Given the description of an element on the screen output the (x, y) to click on. 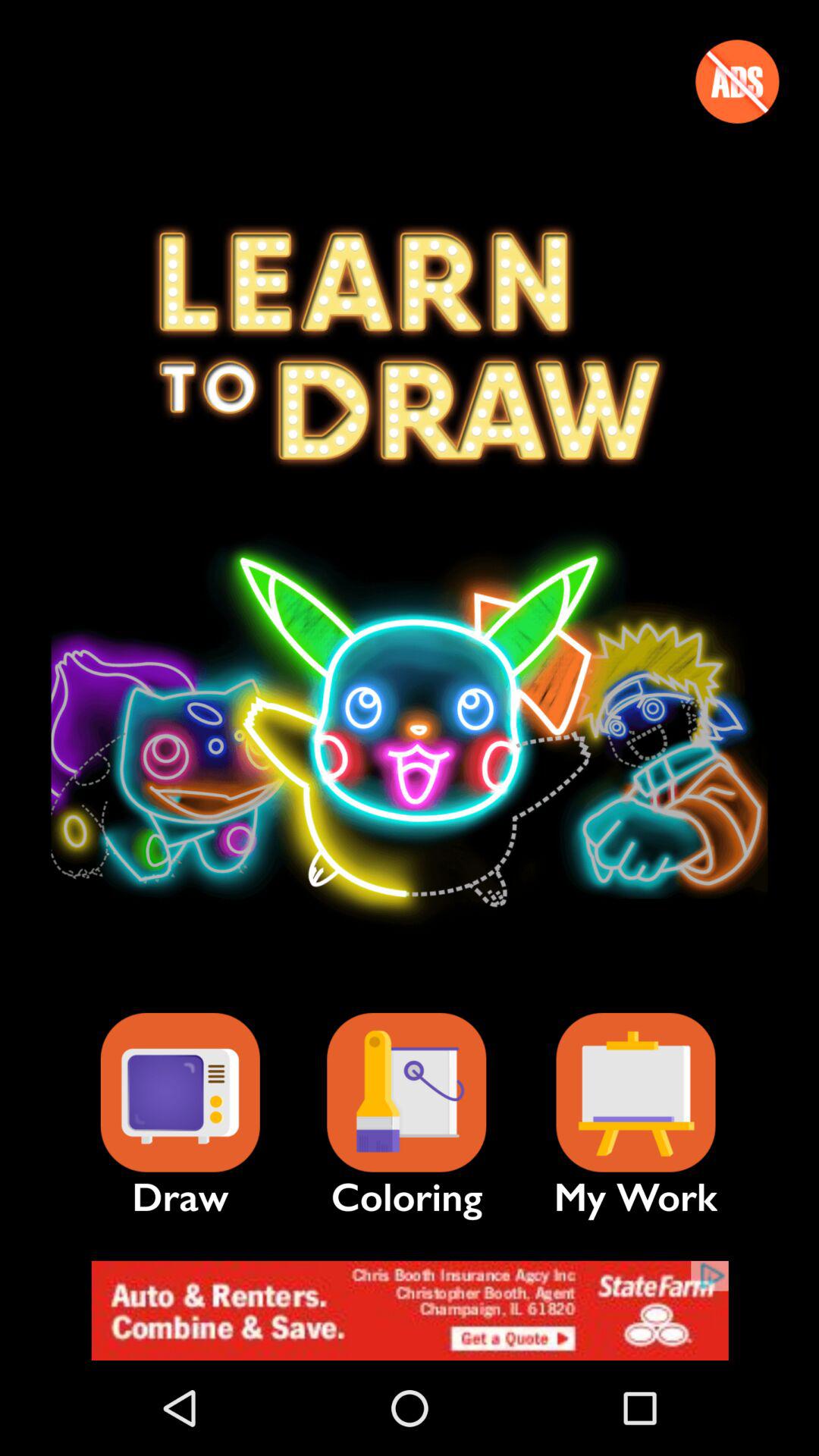
diviertete con tu mundo (406, 1092)
